Given the description of an element on the screen output the (x, y) to click on. 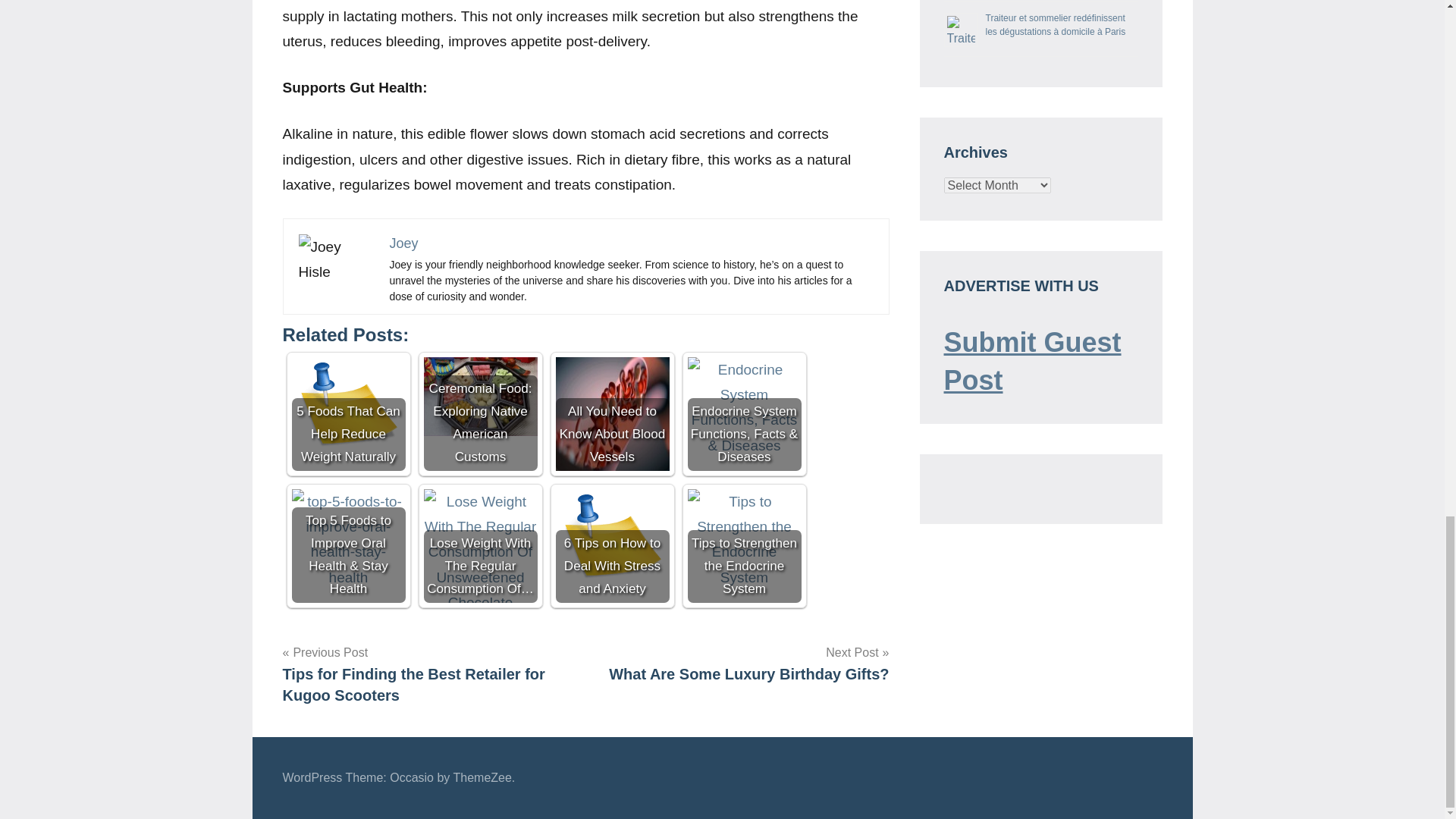
6 Tips on How to Deal With Stress and Anxiety (611, 545)
All You Need to Know About Blood Vessels (611, 413)
Tips to Strengthen the Endocrine System (743, 538)
Joey Hisle (336, 259)
Ceremonial Food: Exploring Native American Customs (480, 396)
